Given the description of an element on the screen output the (x, y) to click on. 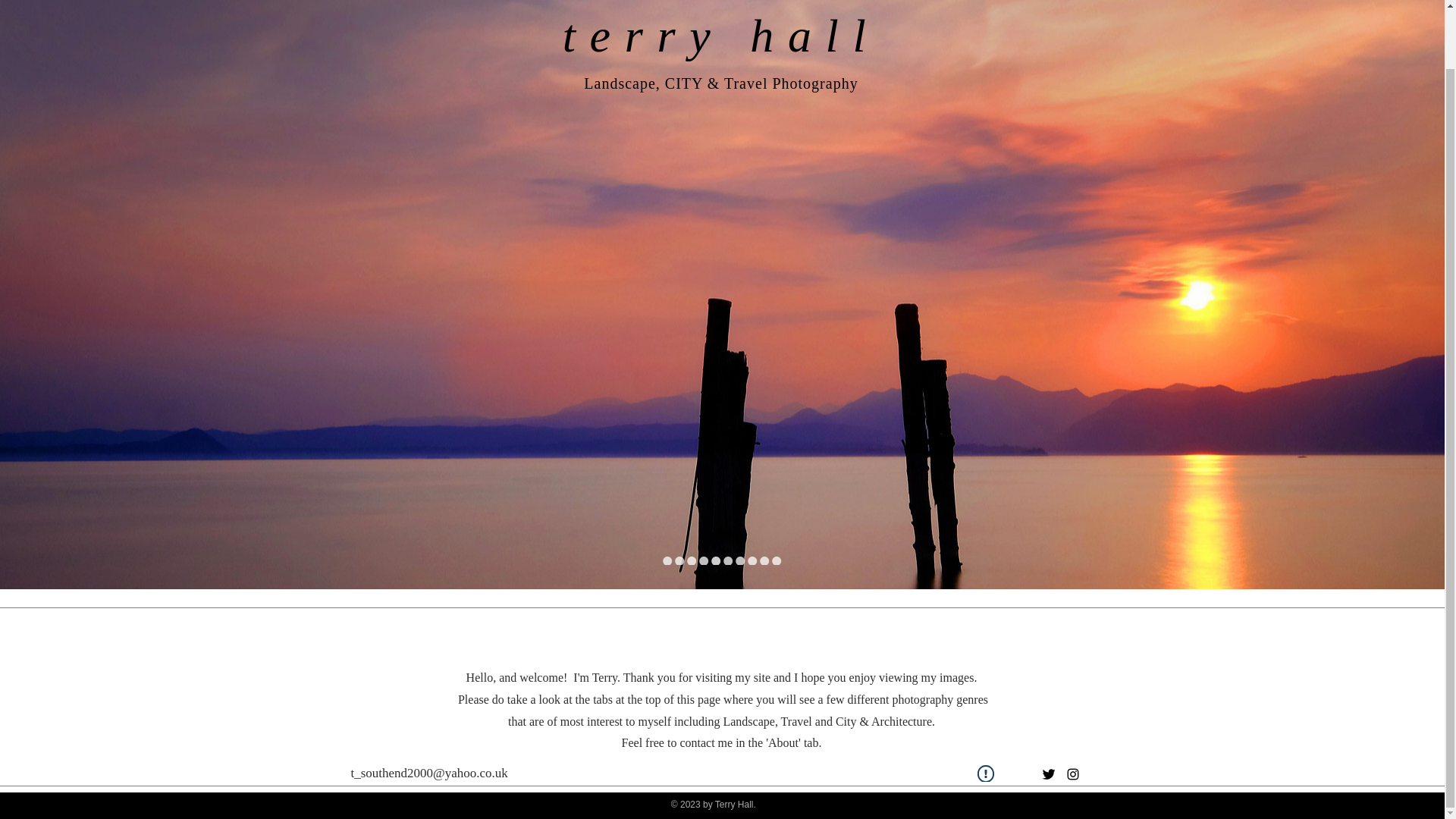
terry hall (720, 35)
